Given the description of an element on the screen output the (x, y) to click on. 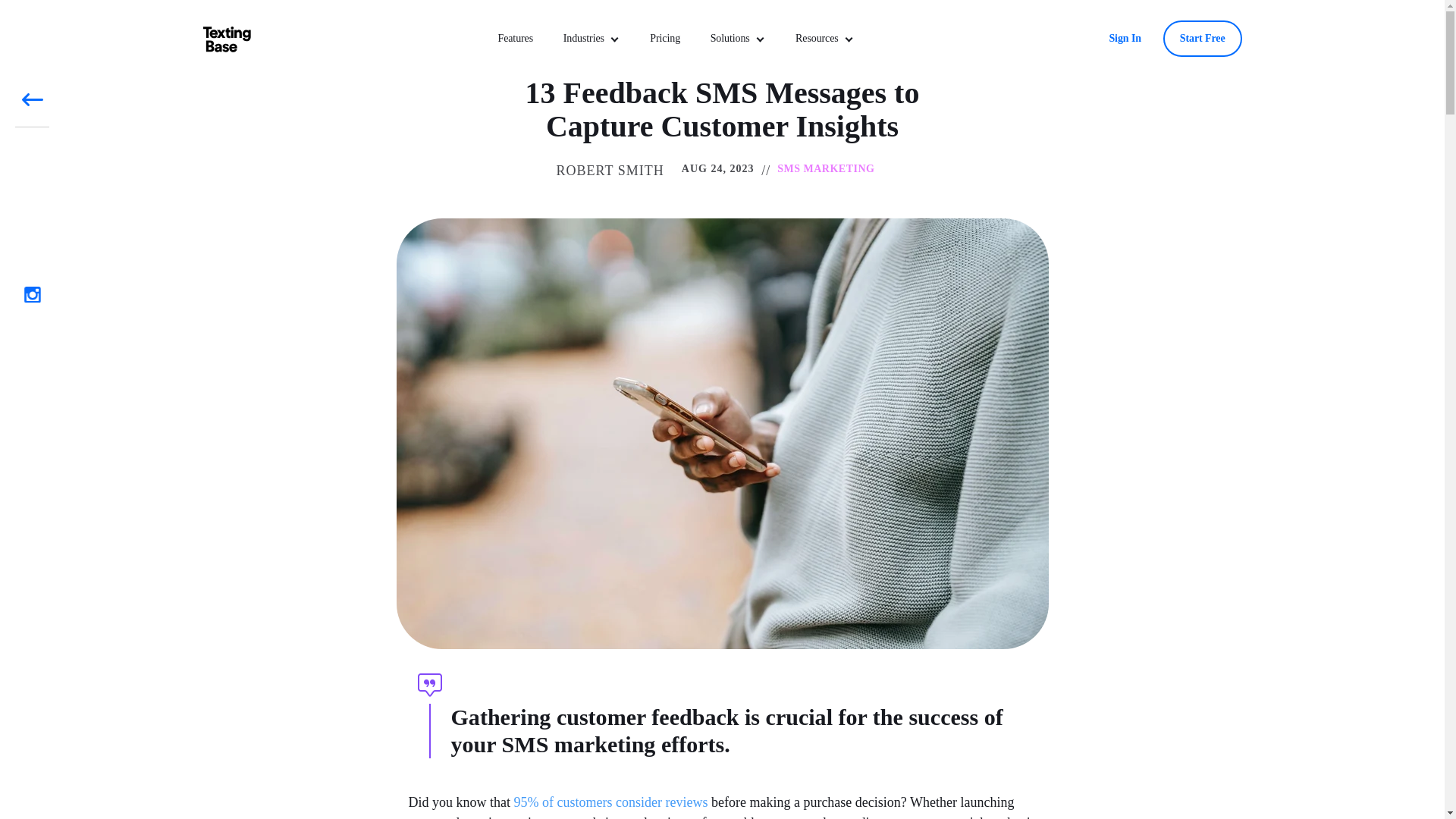
Industries (584, 38)
Features (515, 38)
Solutions (730, 38)
